Given the description of an element on the screen output the (x, y) to click on. 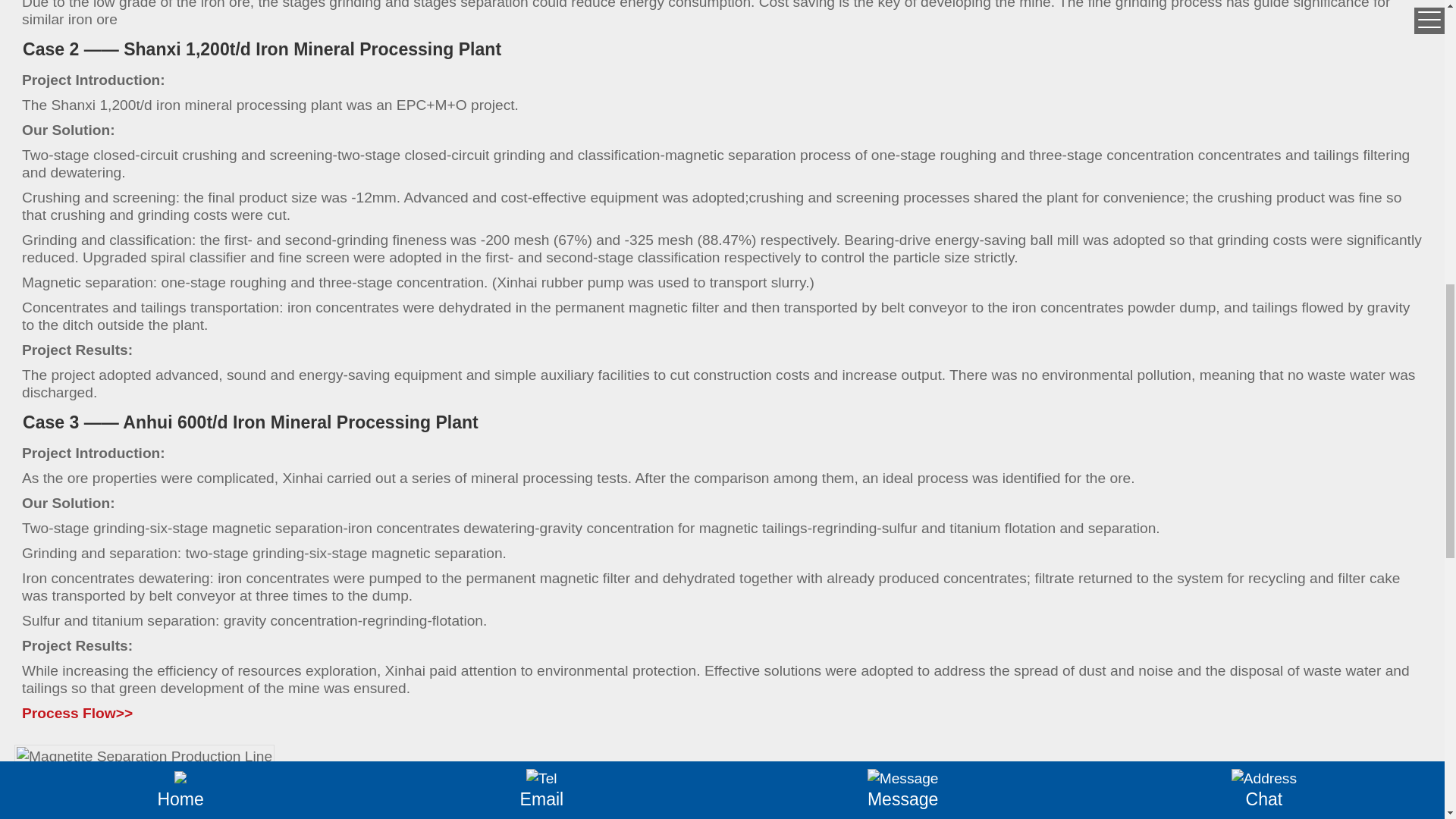
Jaw Crusher (79, 817)
Wet Type Overflow Ball Mill (419, 817)
Magnetic Separator (585, 817)
